Given the description of an element on the screen output the (x, y) to click on. 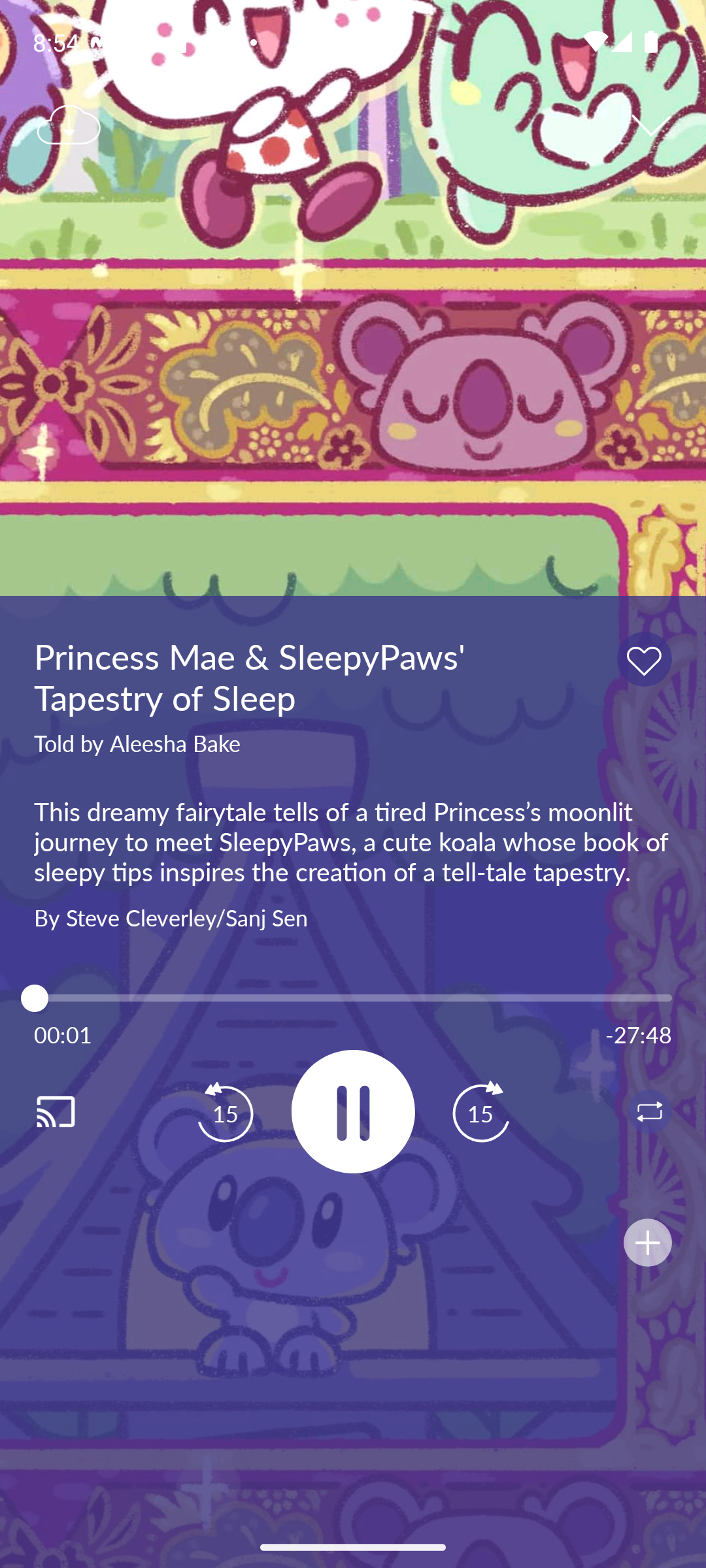
1.0 (352, 997)
Cast. Disconnected (76, 1111)
